Given the description of an element on the screen output the (x, y) to click on. 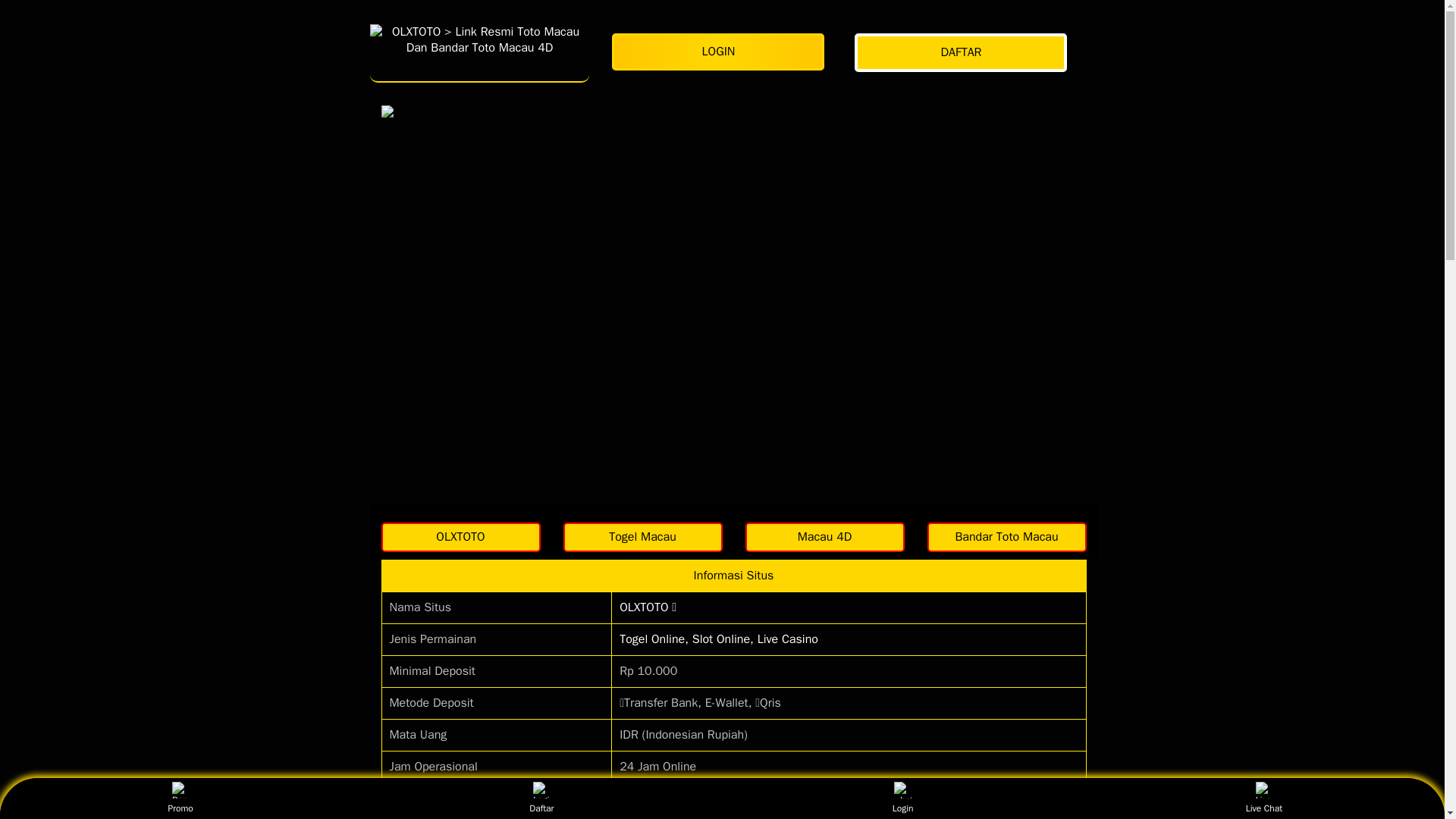
Togel Online, Slot Online, Live Casino (719, 639)
OLXTOTO (460, 537)
Macau 4D (824, 537)
Bandar Toto Macau (1006, 537)
Daftar (541, 797)
Togel Macau (642, 537)
Togel Macau (642, 537)
OLXTOTO (479, 52)
Login (903, 797)
Promo (180, 797)
Macau 4D (824, 537)
DAFTAR (964, 52)
Live Chat (1263, 797)
Bandar Toto Macau (1006, 537)
LOGIN (721, 51)
